Given the description of an element on the screen output the (x, y) to click on. 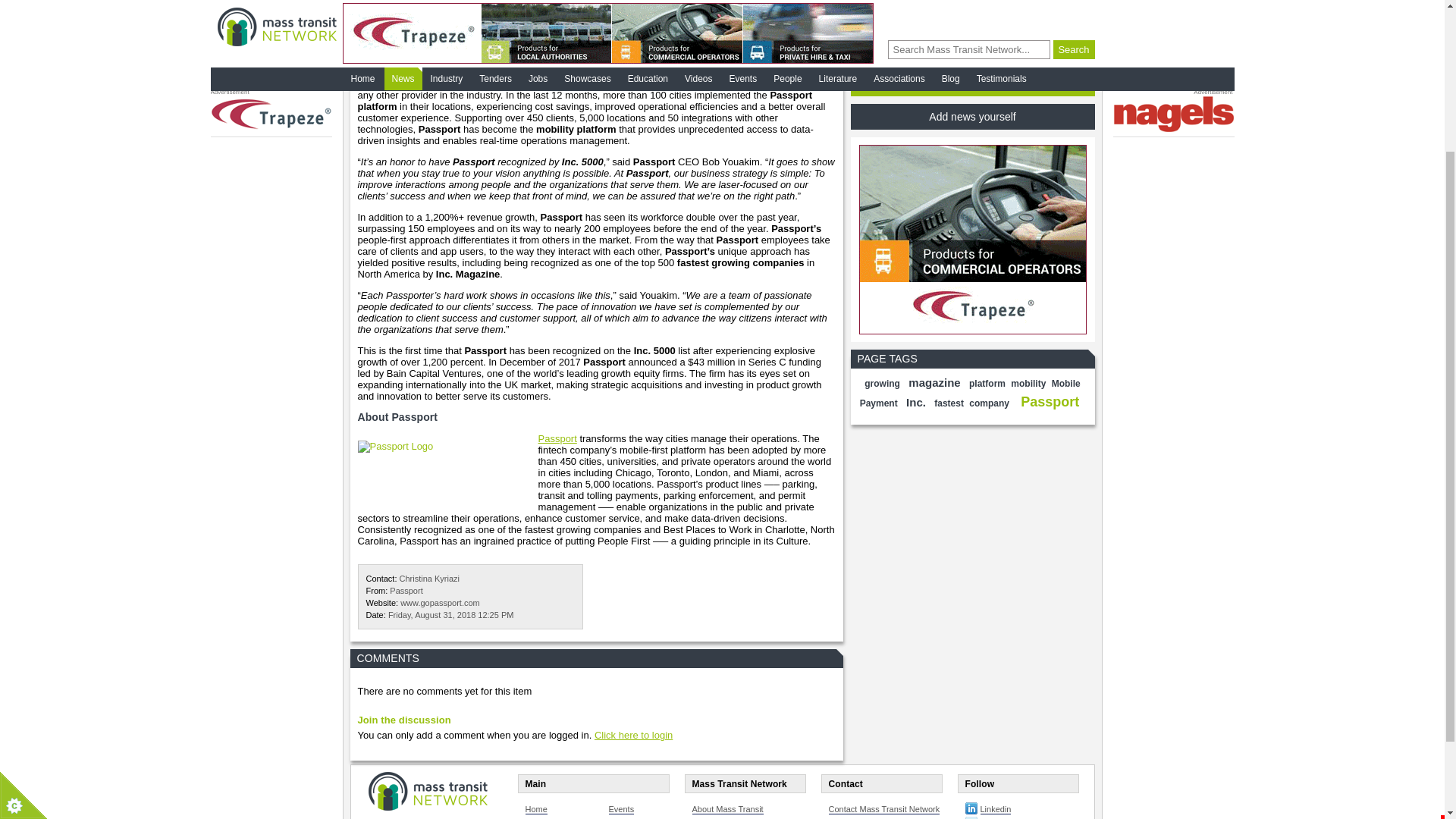
mobility (1027, 383)
Go to Passport (557, 438)
platform (987, 383)
Inc. (915, 401)
www.gopassport.com (440, 602)
Passport (557, 438)
Add news yourself (972, 116)
Passport (972, 48)
View website of Passport (406, 590)
fastest (440, 602)
Click here to login (949, 403)
Click here to login (633, 735)
Passport (633, 735)
Payment (1049, 401)
